Given the description of an element on the screen output the (x, y) to click on. 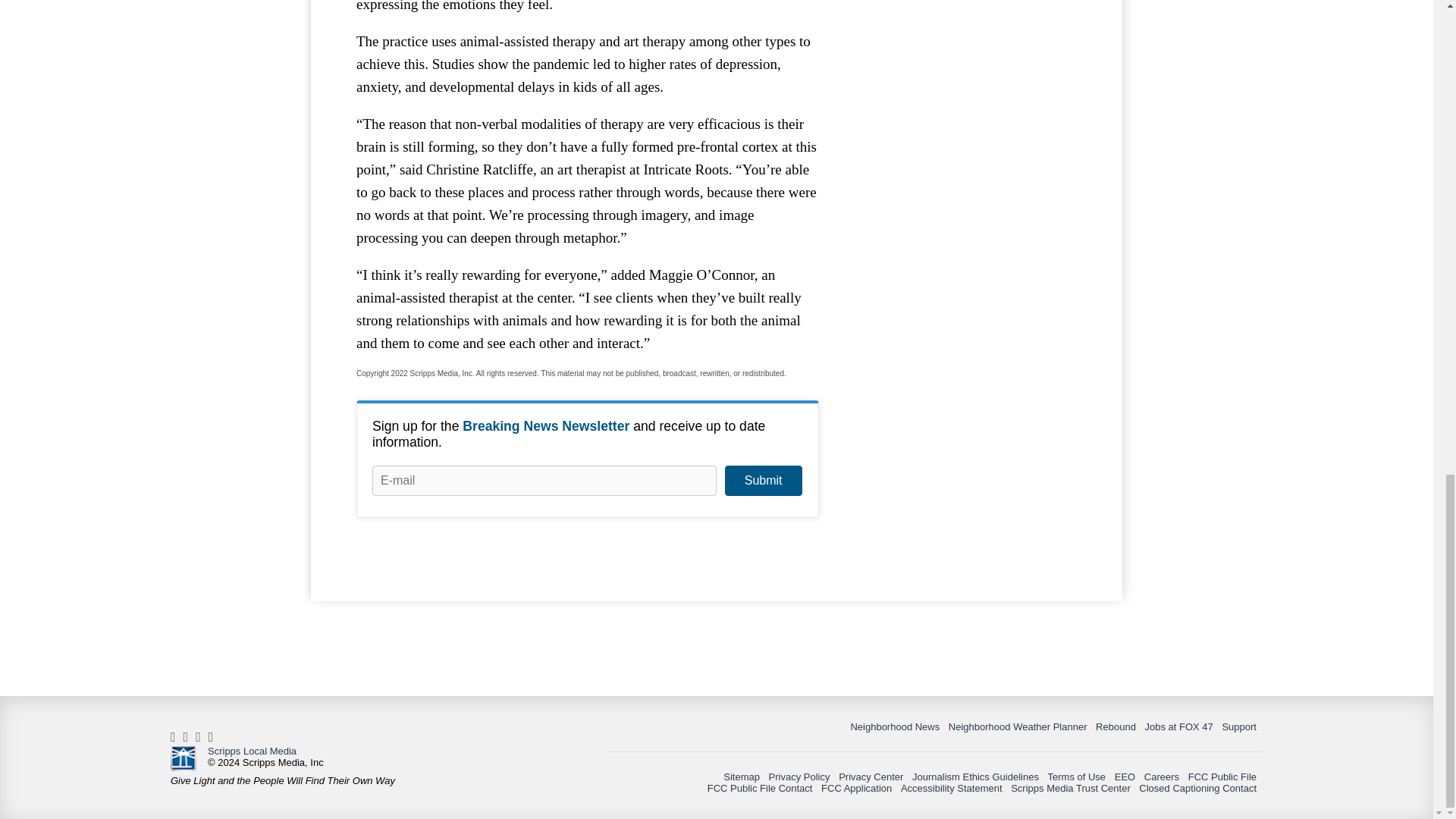
Submit (763, 481)
